Given the description of an element on the screen output the (x, y) to click on. 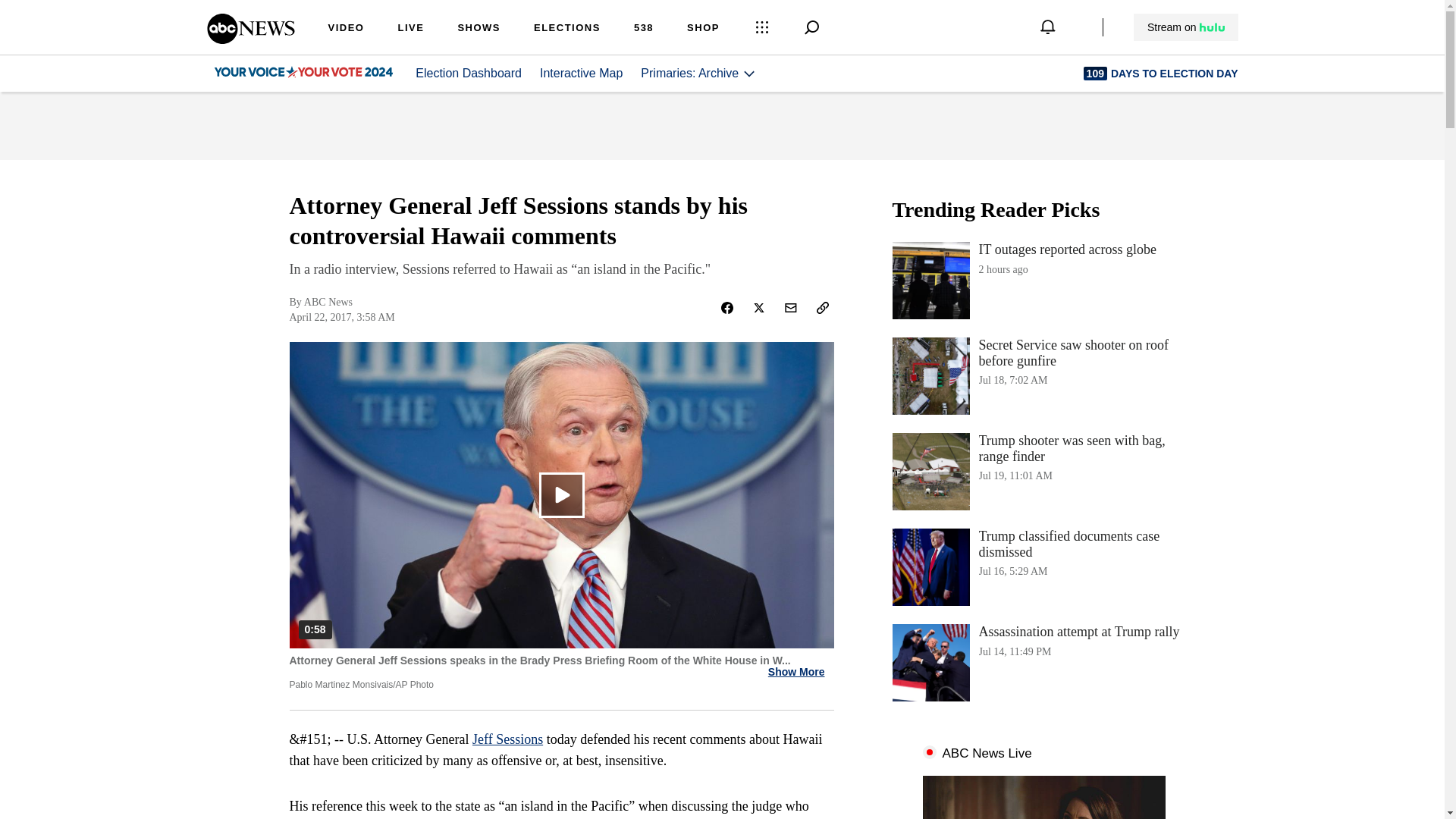
Election Dashboard (467, 73)
SHOWS (478, 28)
LIVE (1043, 280)
ABC News (410, 28)
ELECTIONS (250, 38)
Show More (566, 28)
VIDEO (1043, 567)
Jeff Sessions (796, 671)
538 (345, 28)
Stream on (507, 739)
Interactive Map (643, 28)
